Given the description of an element on the screen output the (x, y) to click on. 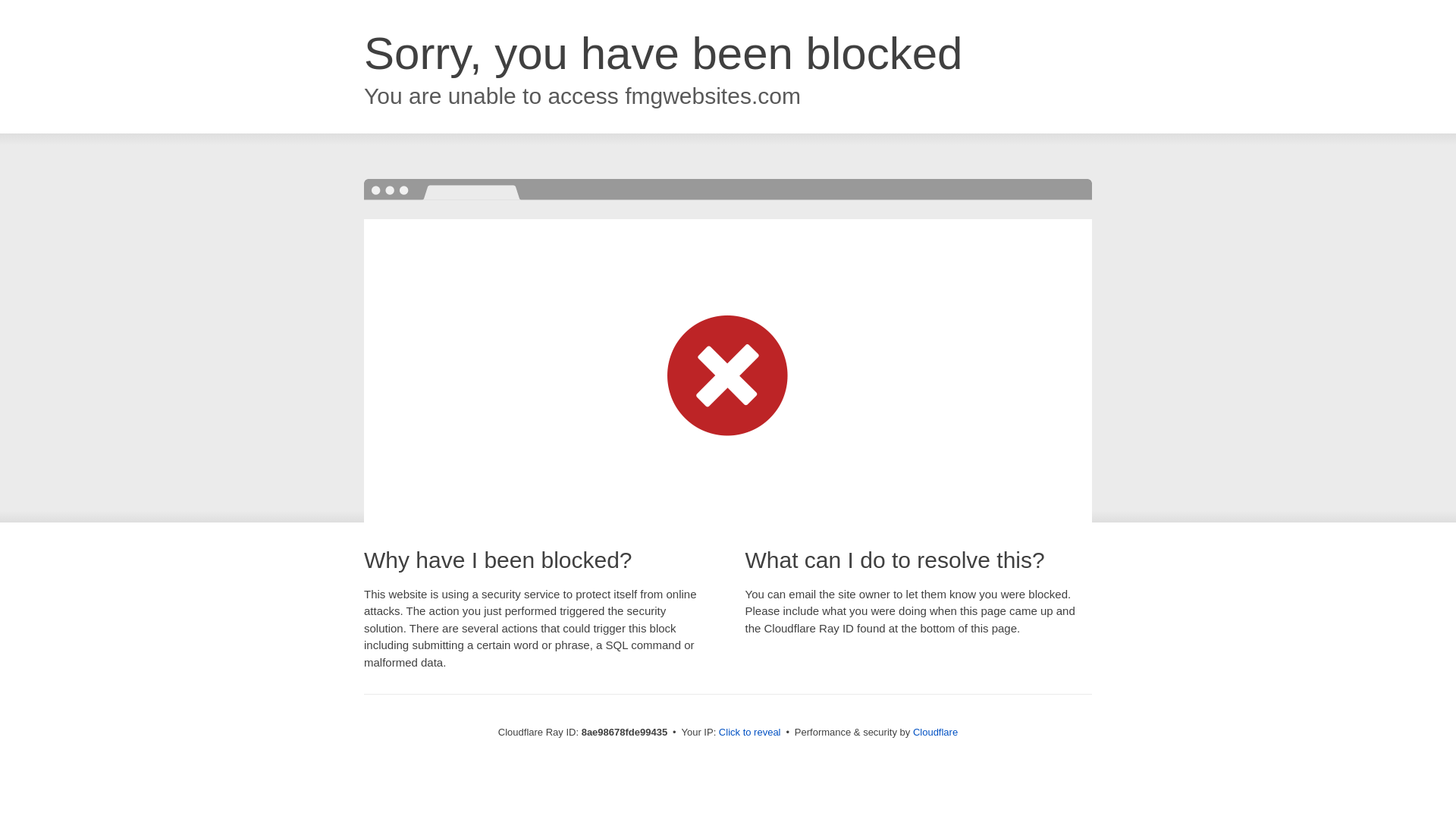
Cloudflare (935, 731)
Click to reveal (749, 732)
